Given the description of an element on the screen output the (x, y) to click on. 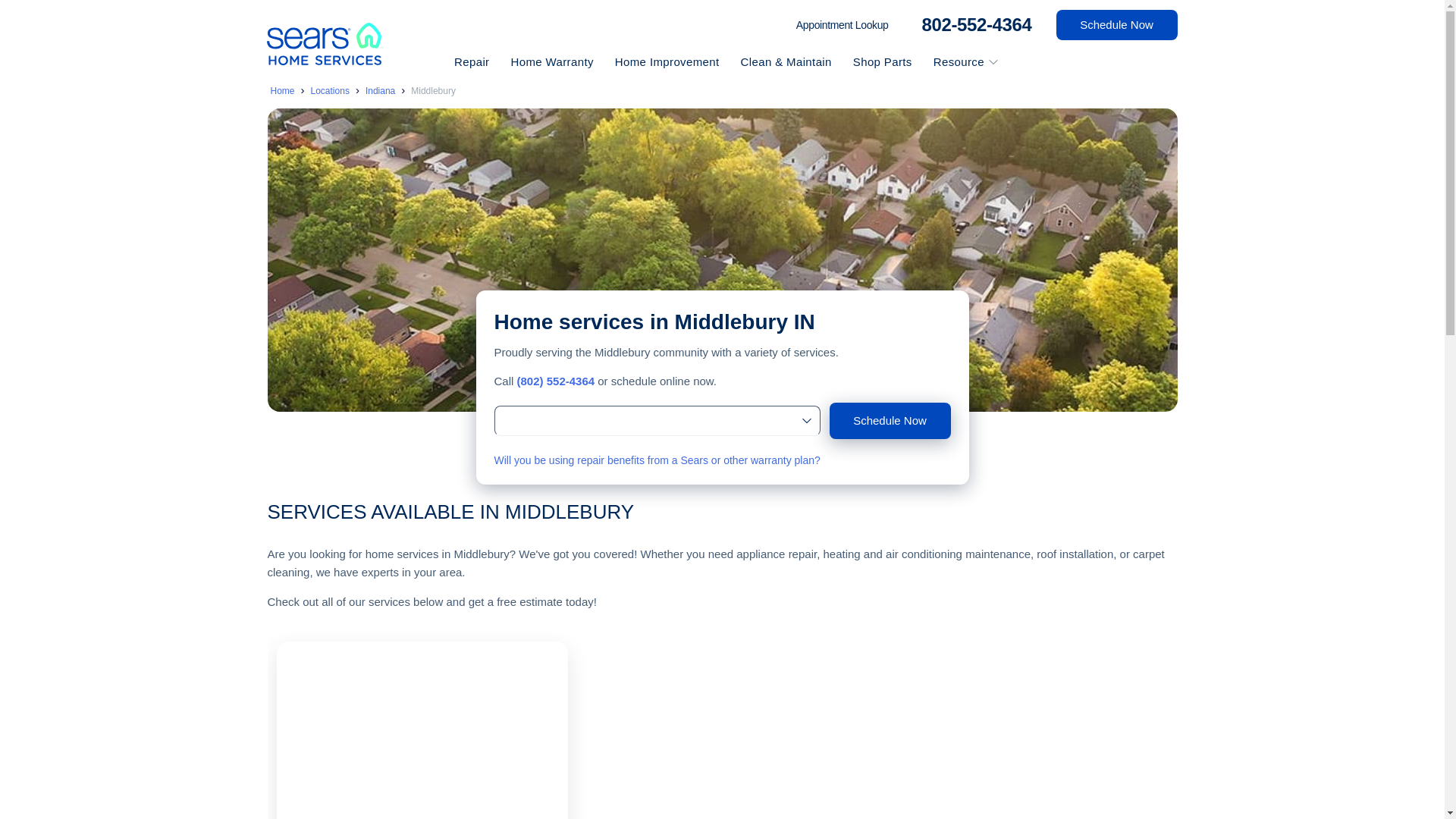
Schedule Now (889, 420)
Middlebury (432, 90)
Locations (330, 90)
Resource (954, 61)
Indiana (379, 90)
Home Warranty (552, 61)
Home Improvement (668, 61)
Repair (472, 61)
Shop Parts (884, 61)
Schedule Now (1115, 24)
802-552-4364 (972, 24)
Home (281, 90)
Appointment Lookup (842, 25)
